Given the description of an element on the screen output the (x, y) to click on. 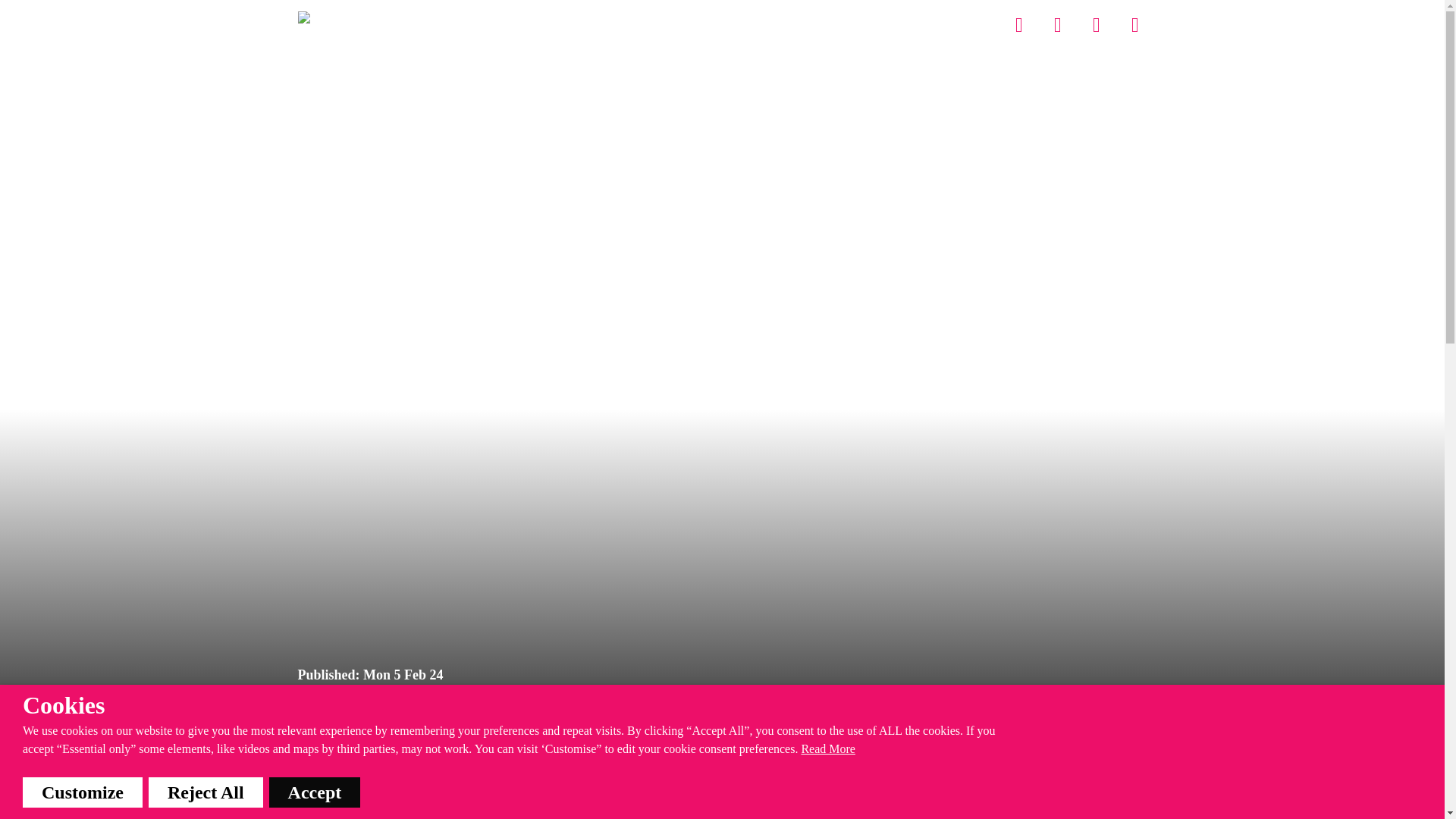
Menu (1135, 24)
Walthamstow (881, 24)
Account (1019, 24)
Search (1096, 24)
Player (959, 24)
Basket (1058, 24)
Dean St (800, 24)
